Given the description of an element on the screen output the (x, y) to click on. 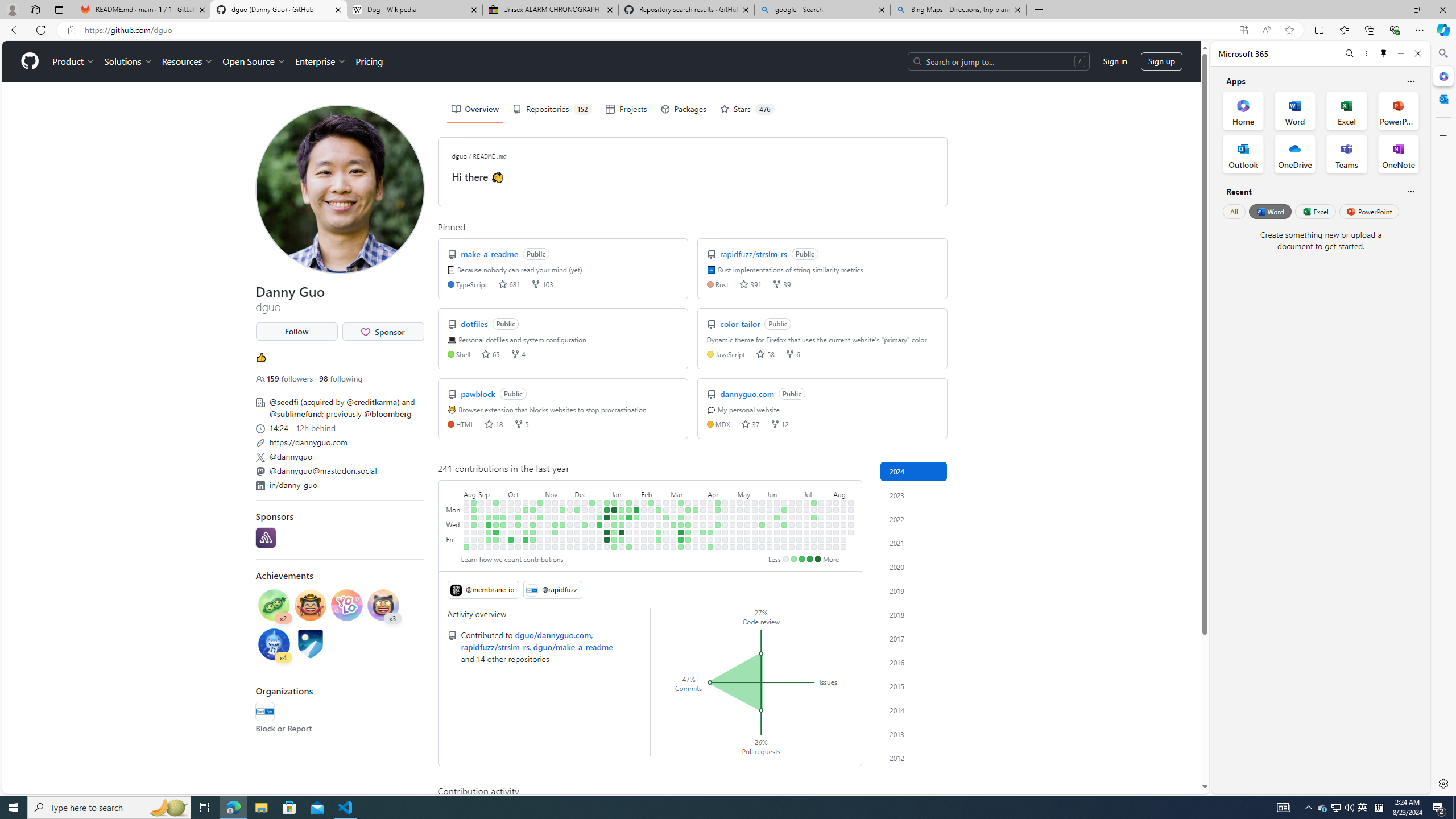
No contributions on May 11th. (740, 546)
No contributions on April 28th. (732, 502)
Word Office App (1295, 110)
No contributions on June 25th. (791, 517)
No contributions on July 20th. (813, 546)
2 contributions on September 22nd. (496, 539)
No contributions on July 23rd. (821, 517)
No contributions on August 3rd. (828, 546)
June (784, 492)
Open Source (254, 60)
March (688, 492)
Teams Office App (1346, 154)
